Given the description of an element on the screen output the (x, y) to click on. 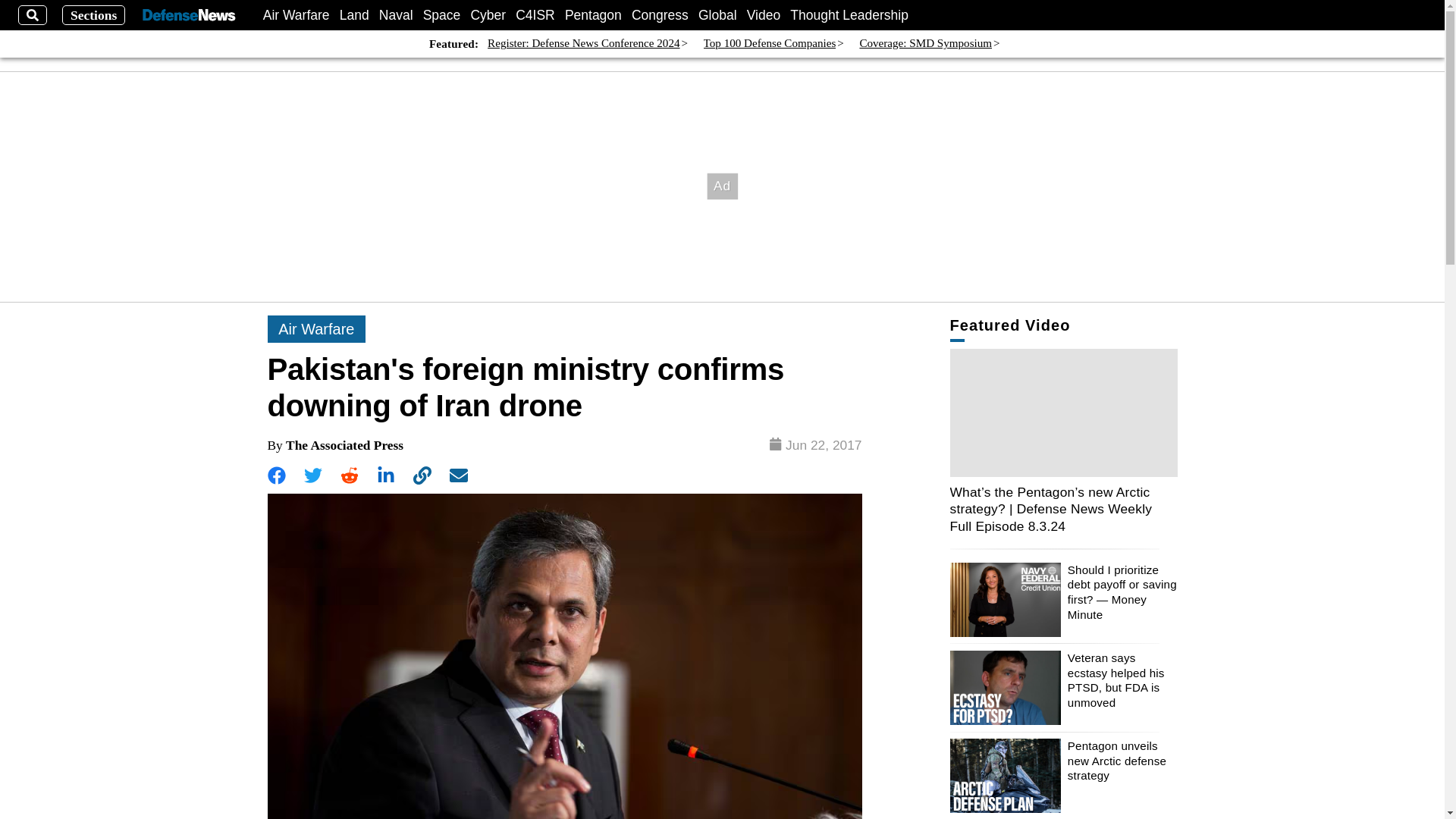
Land (354, 14)
Thought Leadership (849, 14)
Defense News Logo (188, 14)
Air Warfare (296, 14)
Pentagon (592, 14)
Naval (395, 14)
Video (763, 14)
Global (717, 14)
Sections (93, 14)
Congress (659, 14)
